Given the description of an element on the screen output the (x, y) to click on. 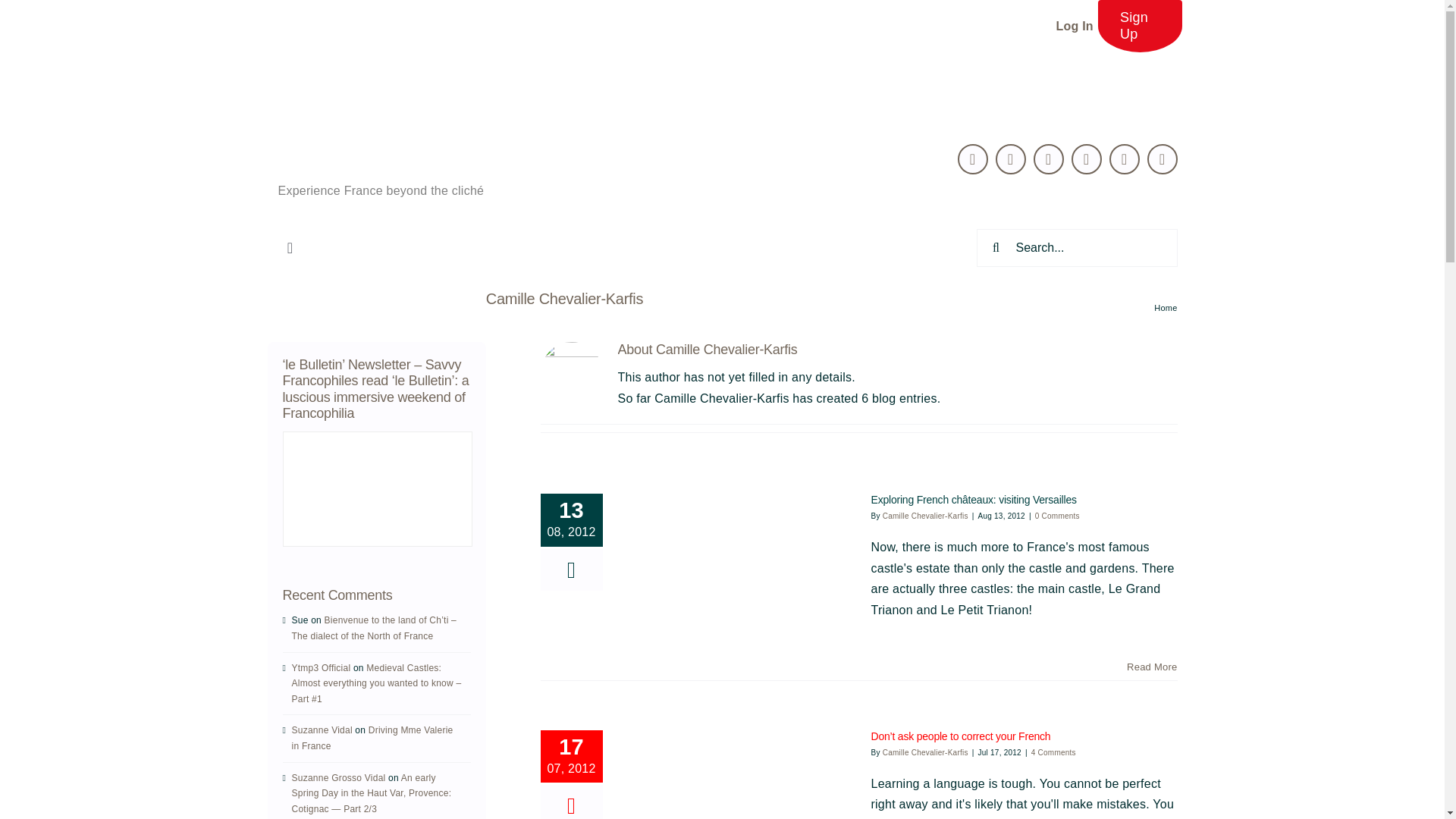
4 Comments (1052, 752)
Sign Up (1139, 26)
Home (1165, 307)
Camille Chevalier-Karfis (925, 752)
YouTube (1124, 159)
LinkedIn (1048, 159)
Posts by Camille Chevalier-Karfis (925, 515)
Toggle Navigation (289, 247)
0 Comments (1057, 515)
Camille Chevalier-Karfis (925, 515)
